Given the description of an element on the screen output the (x, y) to click on. 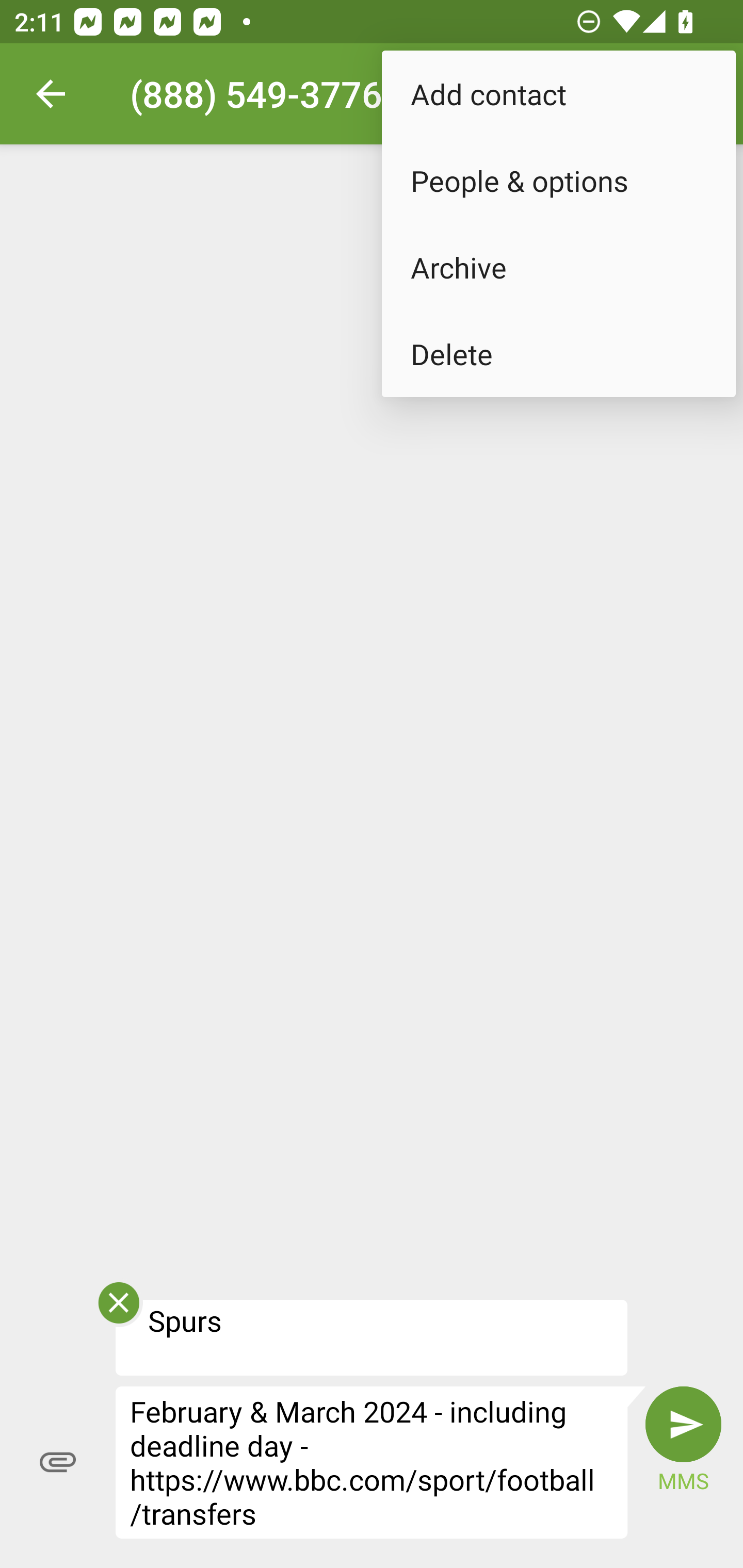
Add contact (558, 93)
People & options (558, 180)
Archive (558, 267)
Delete (558, 353)
